Given the description of an element on the screen output the (x, y) to click on. 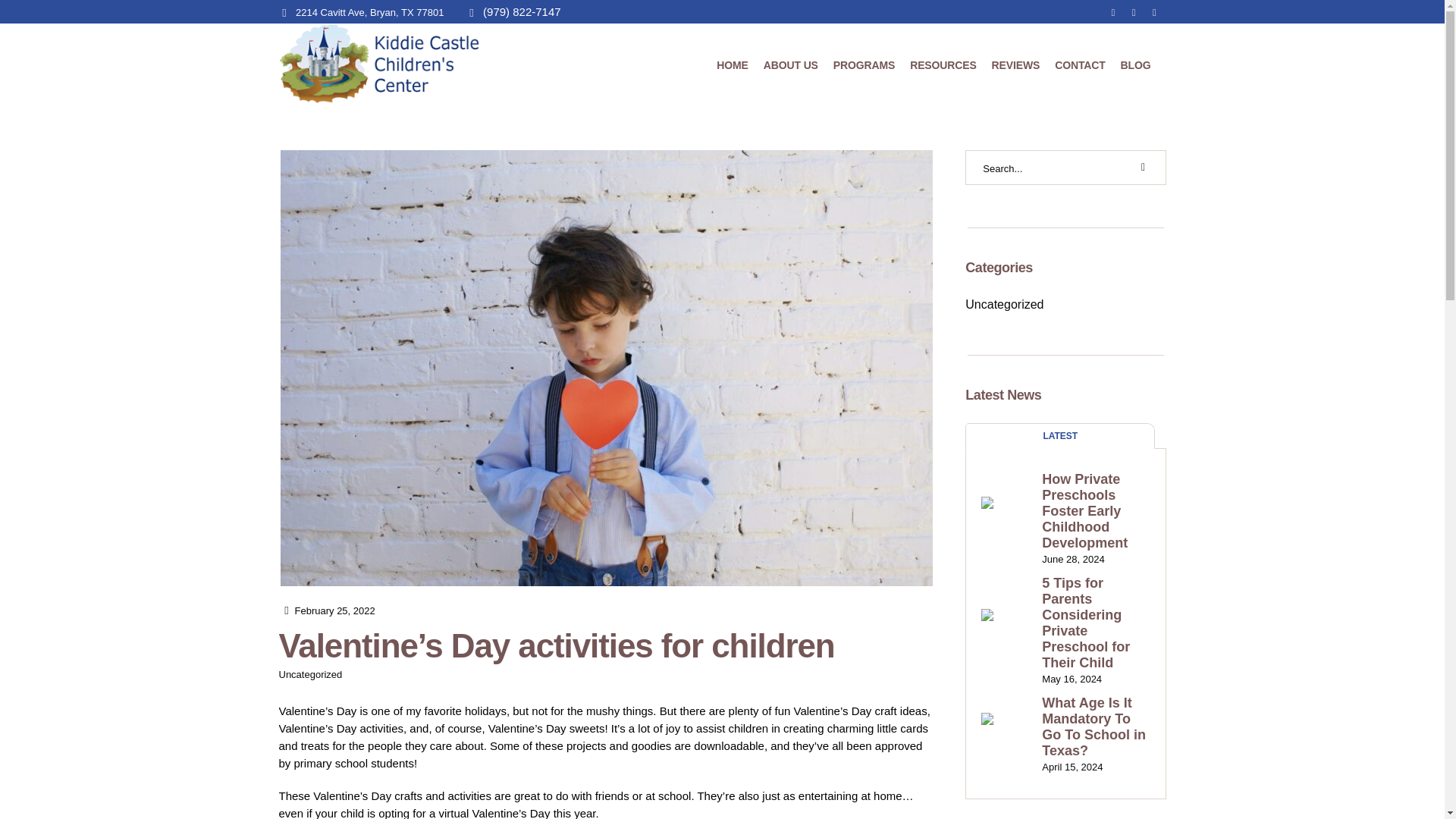
PROGRAMS (863, 63)
Yelp (1153, 12)
How Private Preschools Foster Early Childhood Development (1096, 511)
LATEST (1060, 435)
Google (1113, 12)
How Private Preschools Foster Early Childhood Development (1008, 524)
What Age Is It Mandatory To Go To School in Texas? (1096, 726)
Uncategorized (1004, 303)
RESOURCES (943, 63)
